Given the description of an element on the screen output the (x, y) to click on. 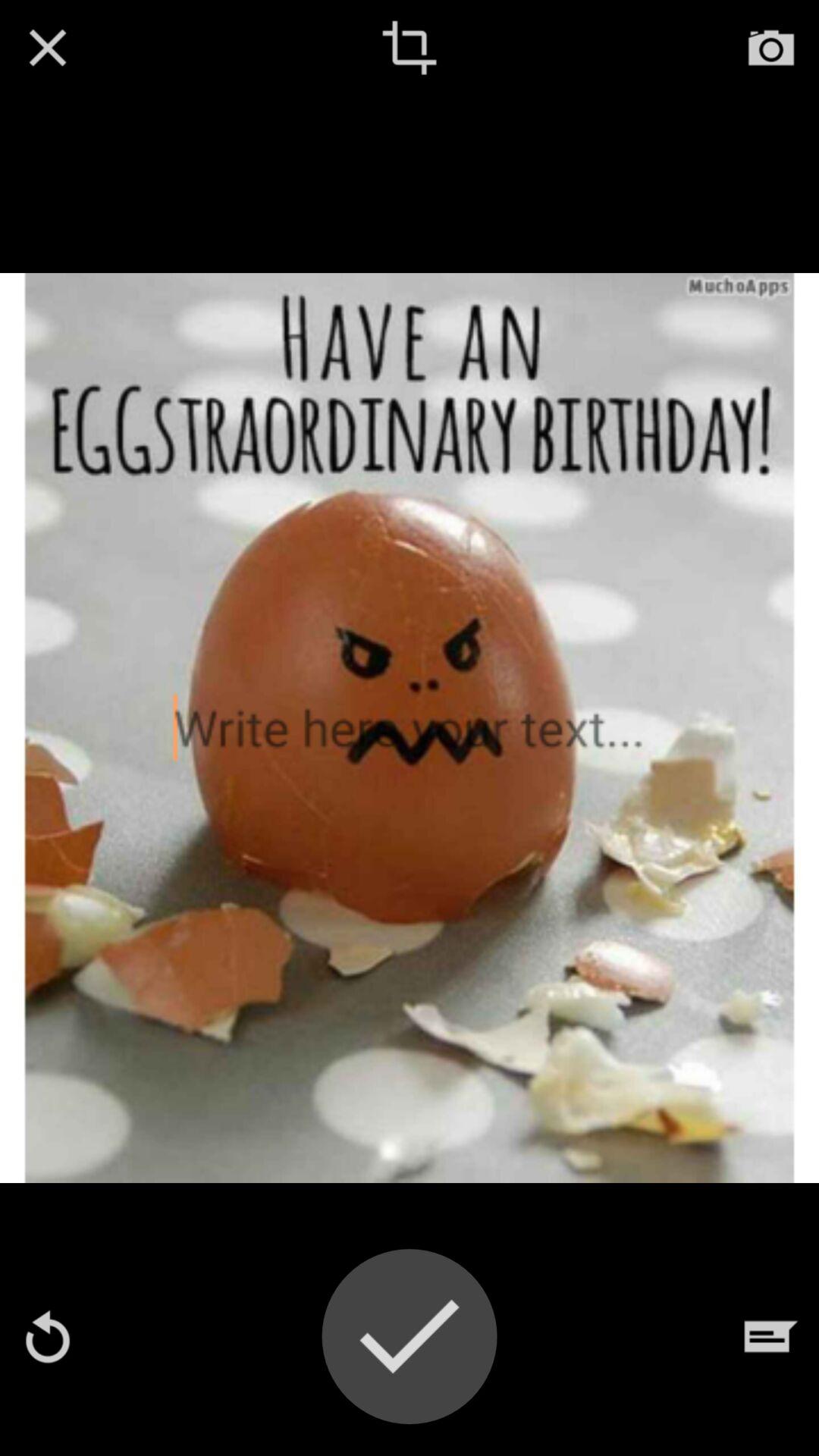
this button in dawn image (409, 47)
